Given the description of an element on the screen output the (x, y) to click on. 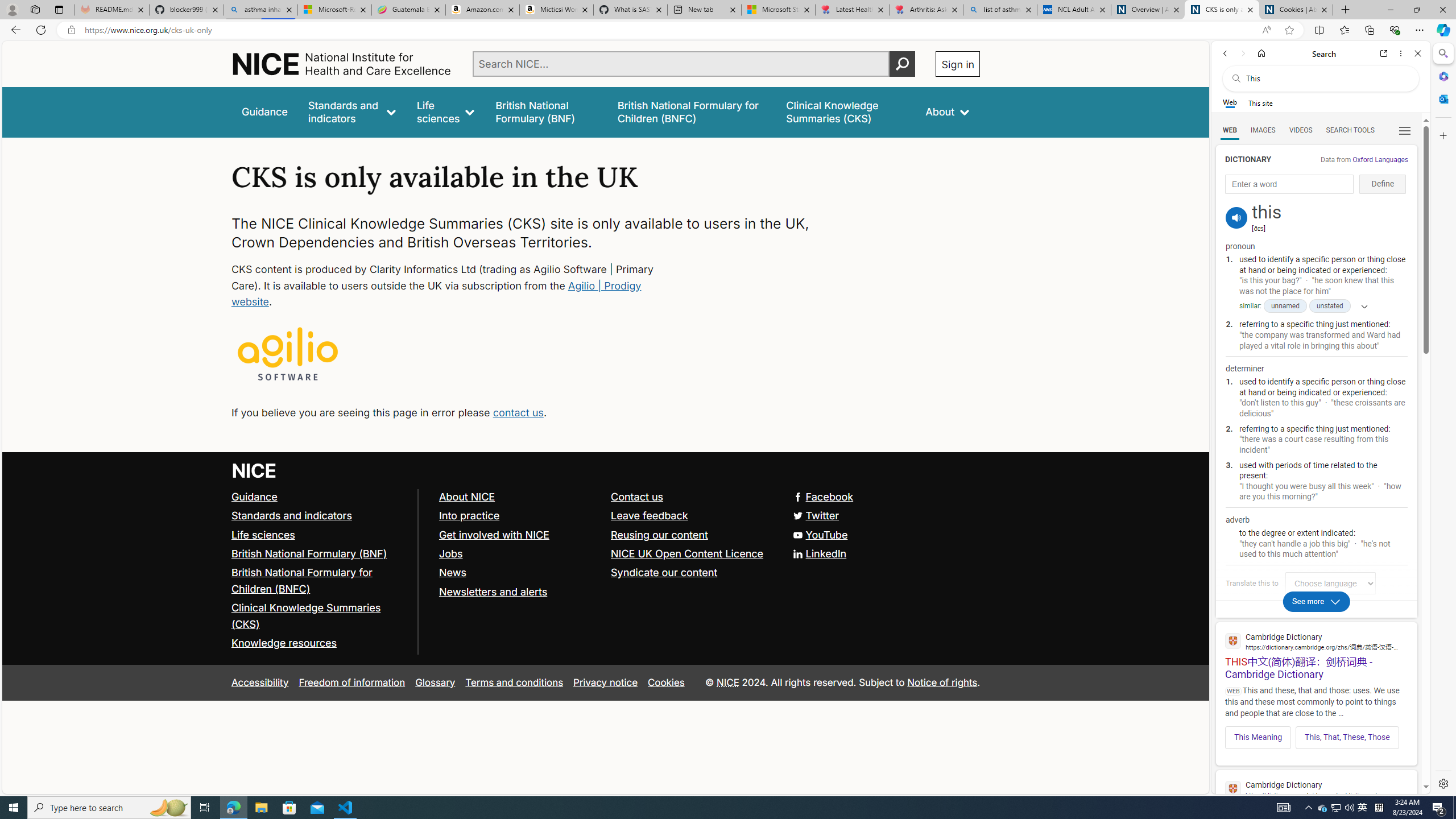
Cookies (665, 682)
